Given the description of an element on the screen output the (x, y) to click on. 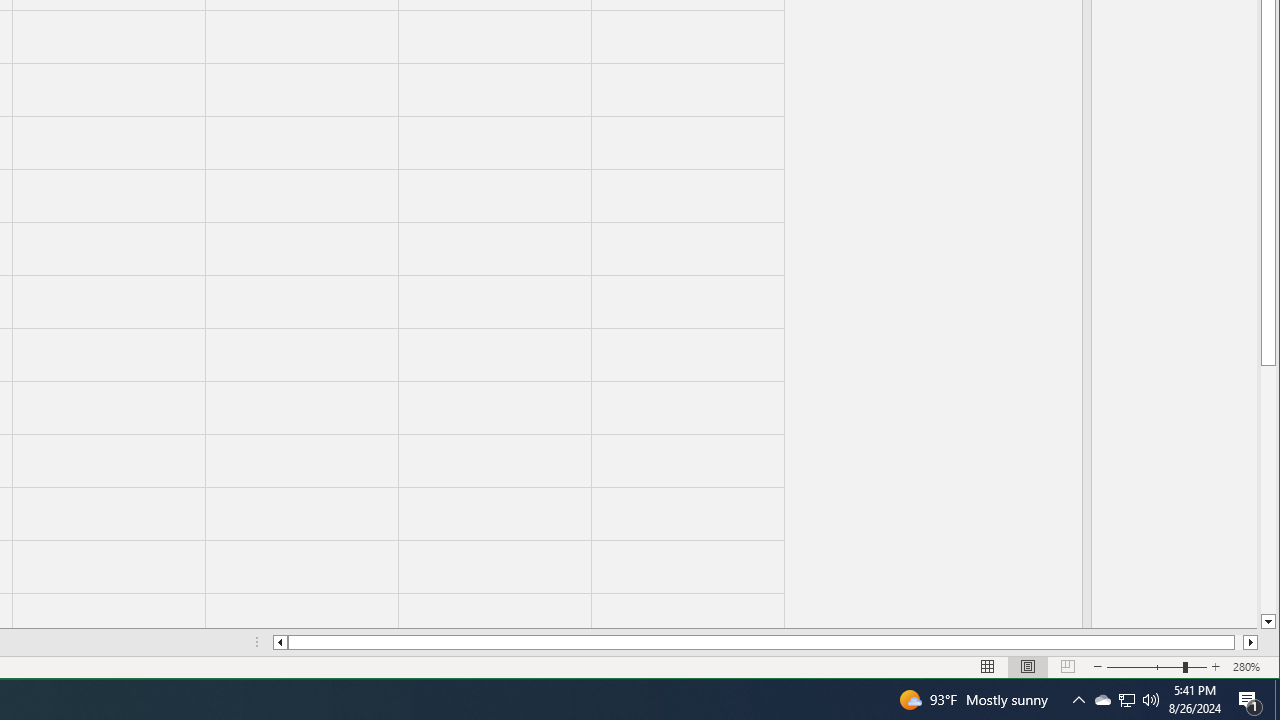
Notification Chevron (1078, 699)
Action Center, 1 new notification (1250, 699)
Q2790: 100% (1151, 699)
Show desktop (1277, 699)
User Promoted Notification Area (1126, 699)
